Given the description of an element on the screen output the (x, y) to click on. 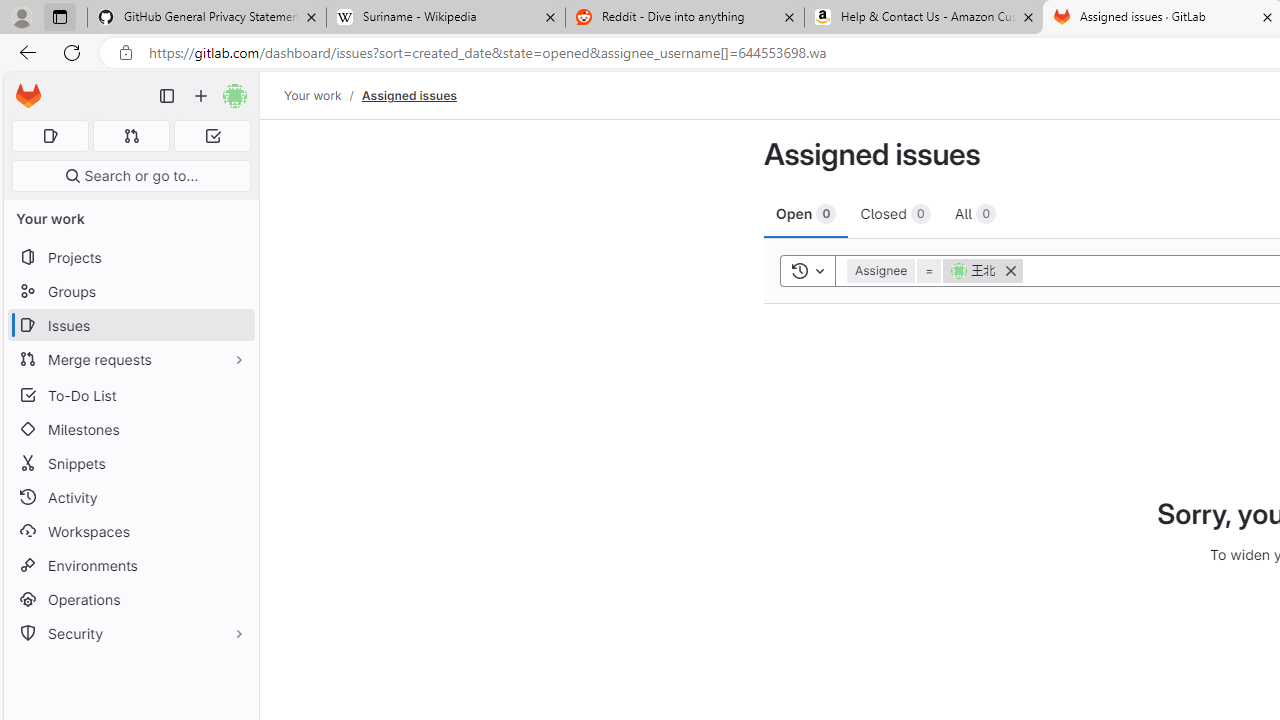
Your work (312, 95)
Snippets (130, 463)
GitHub General Privacy Statement - GitHub Docs (207, 17)
Assigned issues 0 (50, 136)
Environments (130, 564)
Open 0 (806, 213)
Groups (130, 291)
To-Do List (130, 394)
Merge requests (130, 358)
Closed 0 (895, 213)
